Given the description of an element on the screen output the (x, y) to click on. 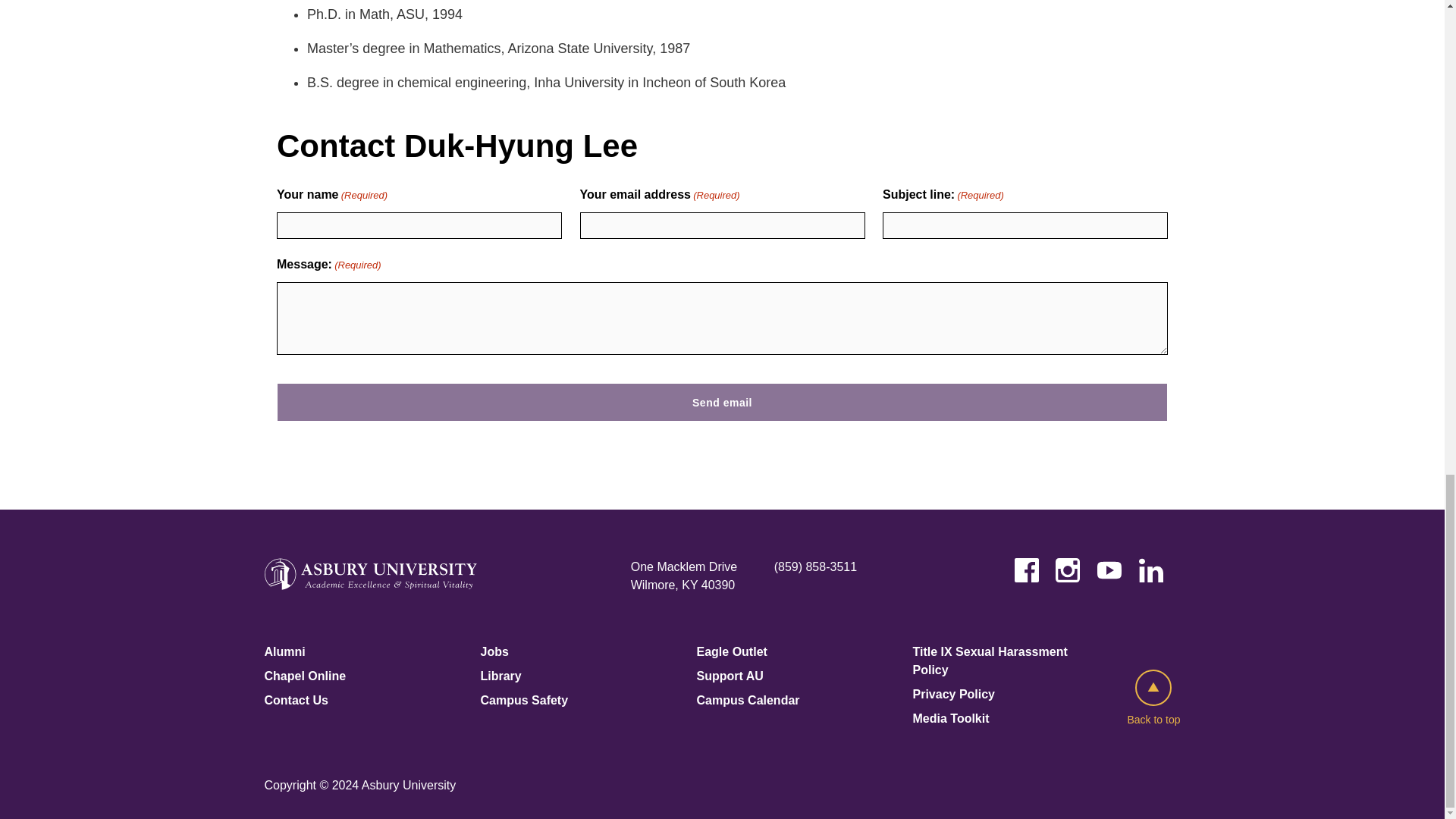
Send email (721, 402)
Instagram (1067, 569)
Send email (721, 402)
LinkedIn (1150, 569)
YouTube (1109, 569)
Back to top (1152, 698)
Facebook (1026, 569)
